Given the description of an element on the screen output the (x, y) to click on. 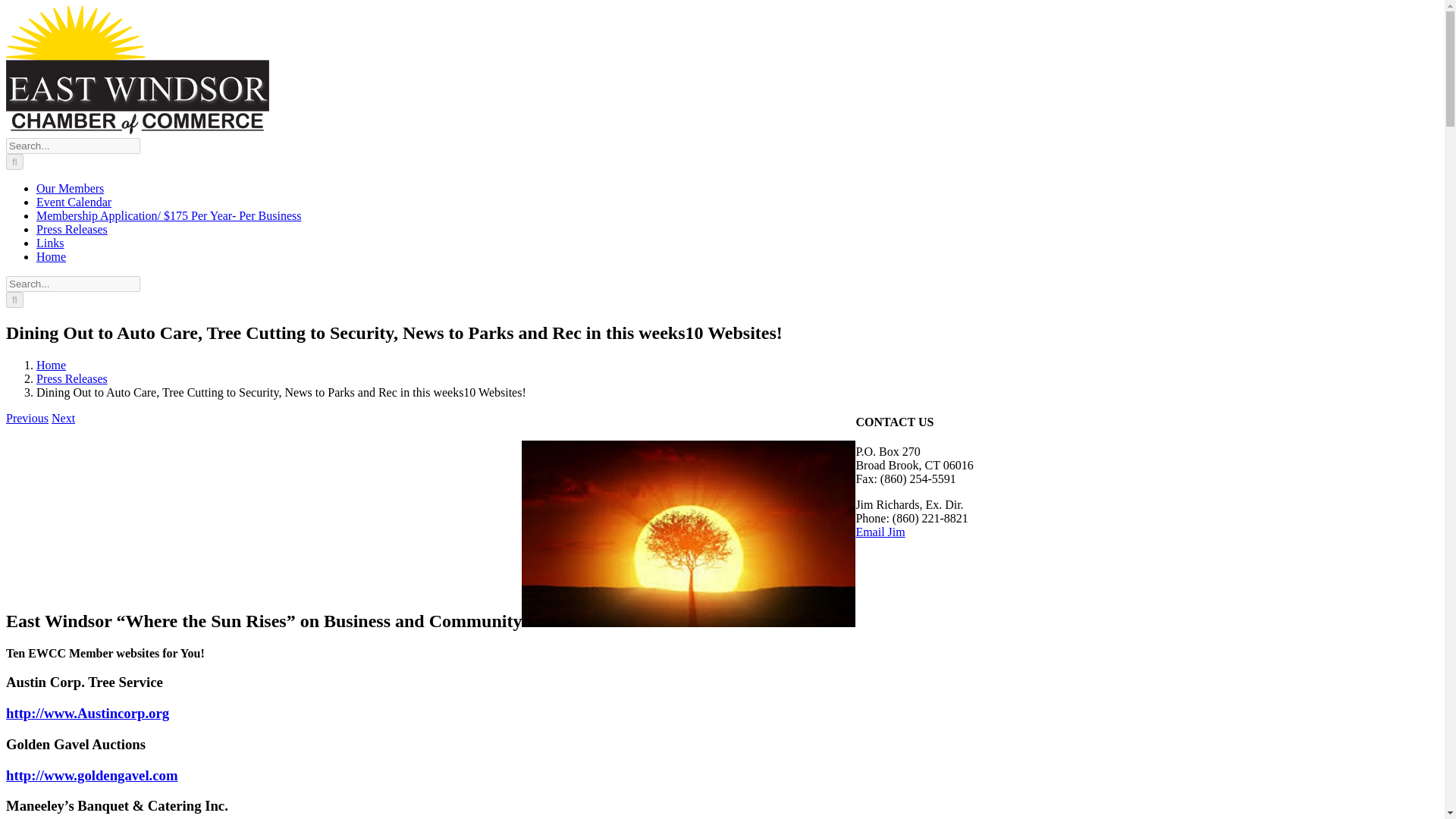
Previous (26, 418)
Next (62, 418)
Press Releases (71, 228)
Press Releases (71, 378)
Home (50, 256)
Links (50, 242)
Home (50, 364)
Event Calendar (74, 201)
Our Members (69, 187)
